Given the description of an element on the screen output the (x, y) to click on. 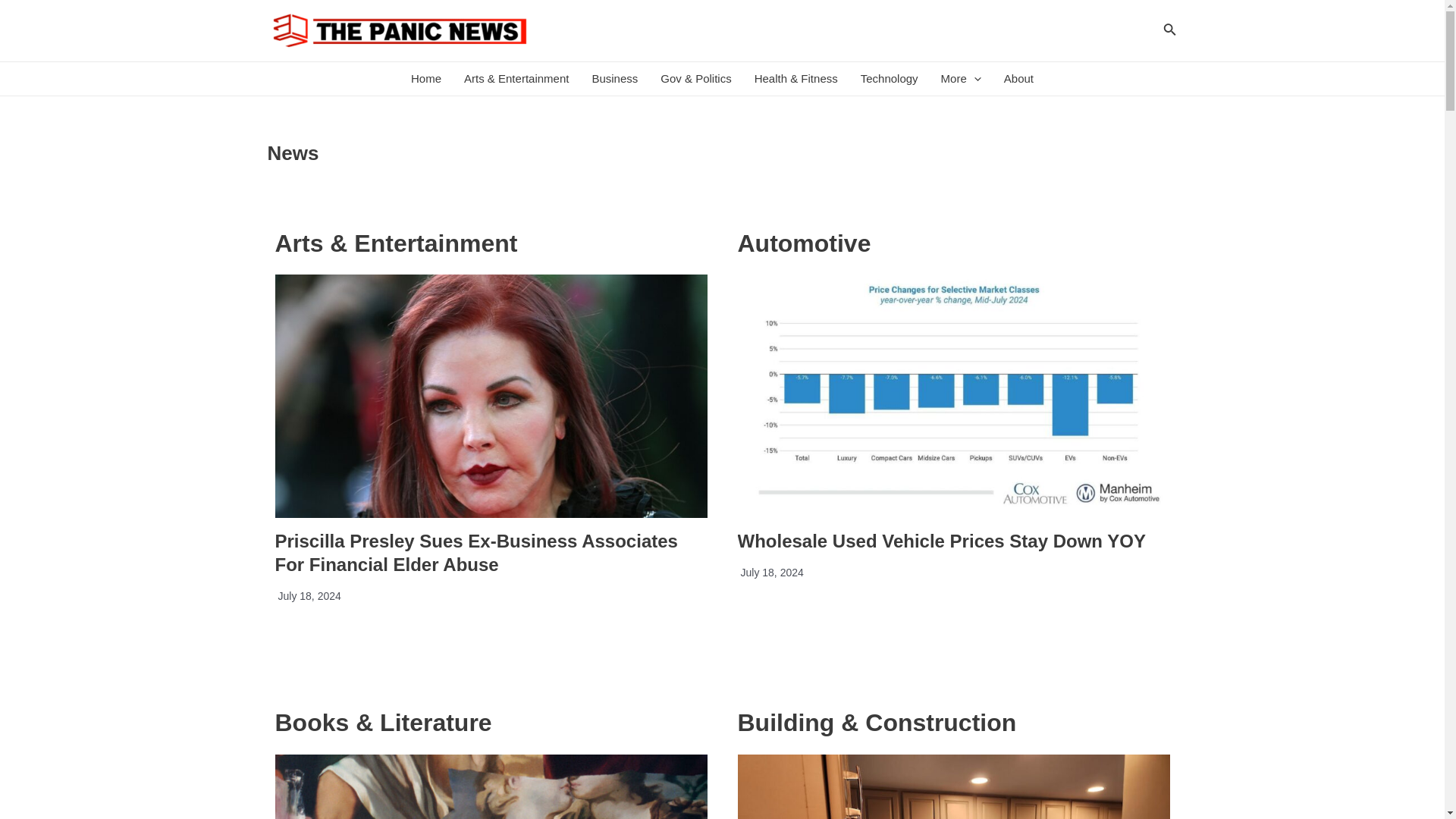
Home (425, 78)
More (961, 78)
Business (614, 78)
Technology (889, 78)
About (1018, 78)
